Given the description of an element on the screen output the (x, y) to click on. 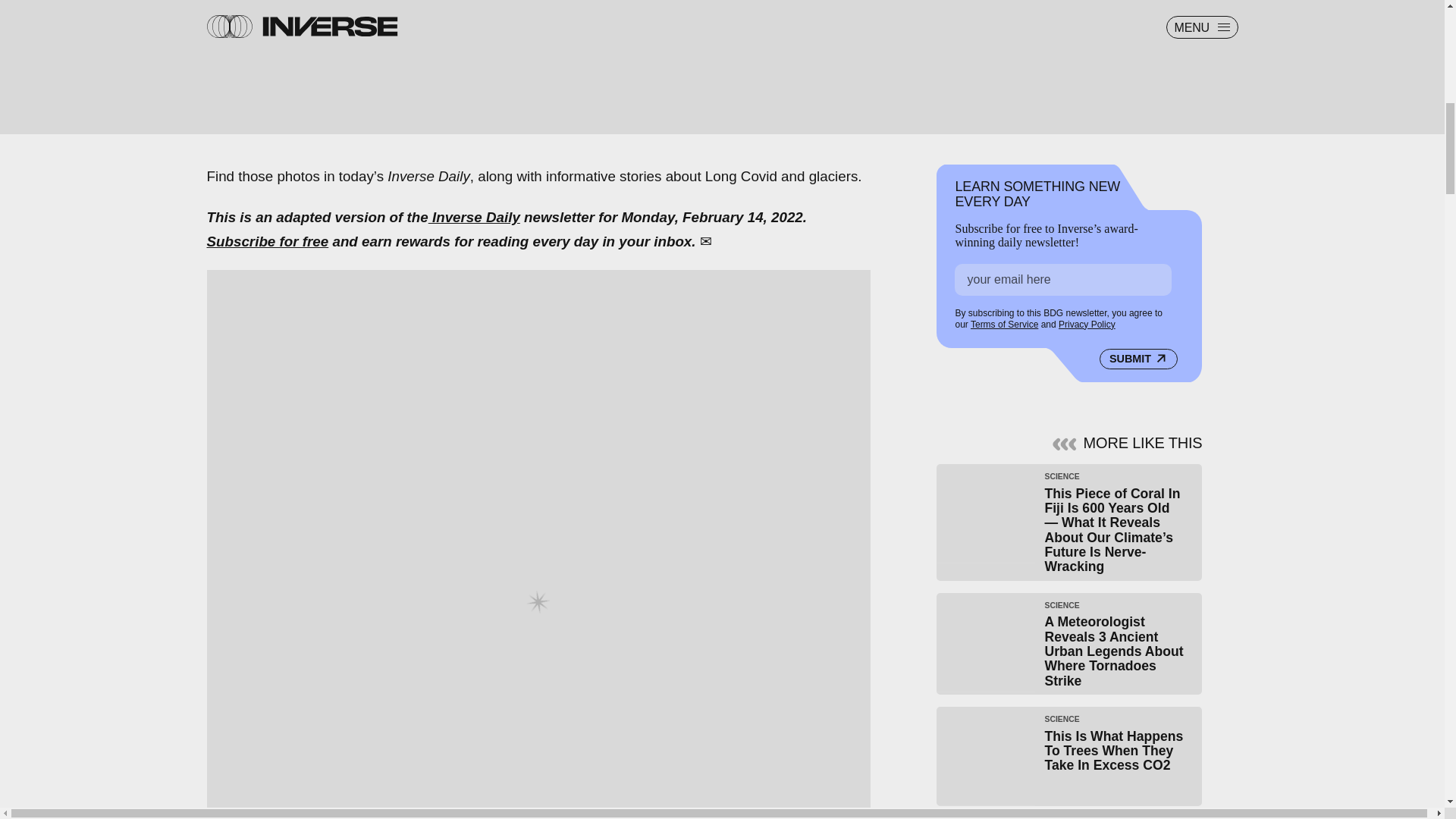
Inverse Daily (473, 217)
SUBMIT (1138, 359)
Subscribe for free (267, 241)
Terms of Service (1004, 324)
Privacy Policy (1086, 324)
